Given the description of an element on the screen output the (x, y) to click on. 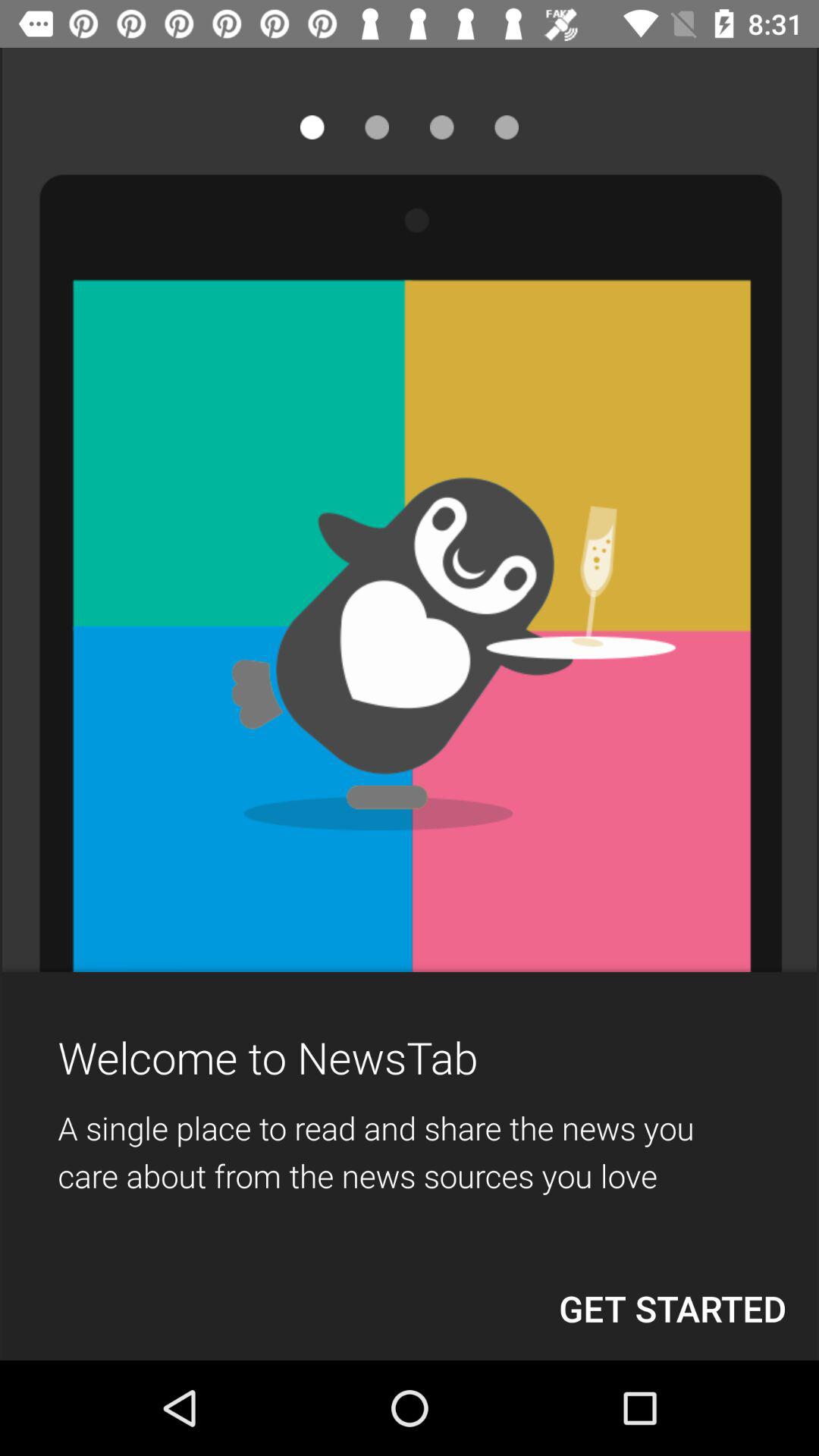
flip to get started item (672, 1308)
